Given the description of an element on the screen output the (x, y) to click on. 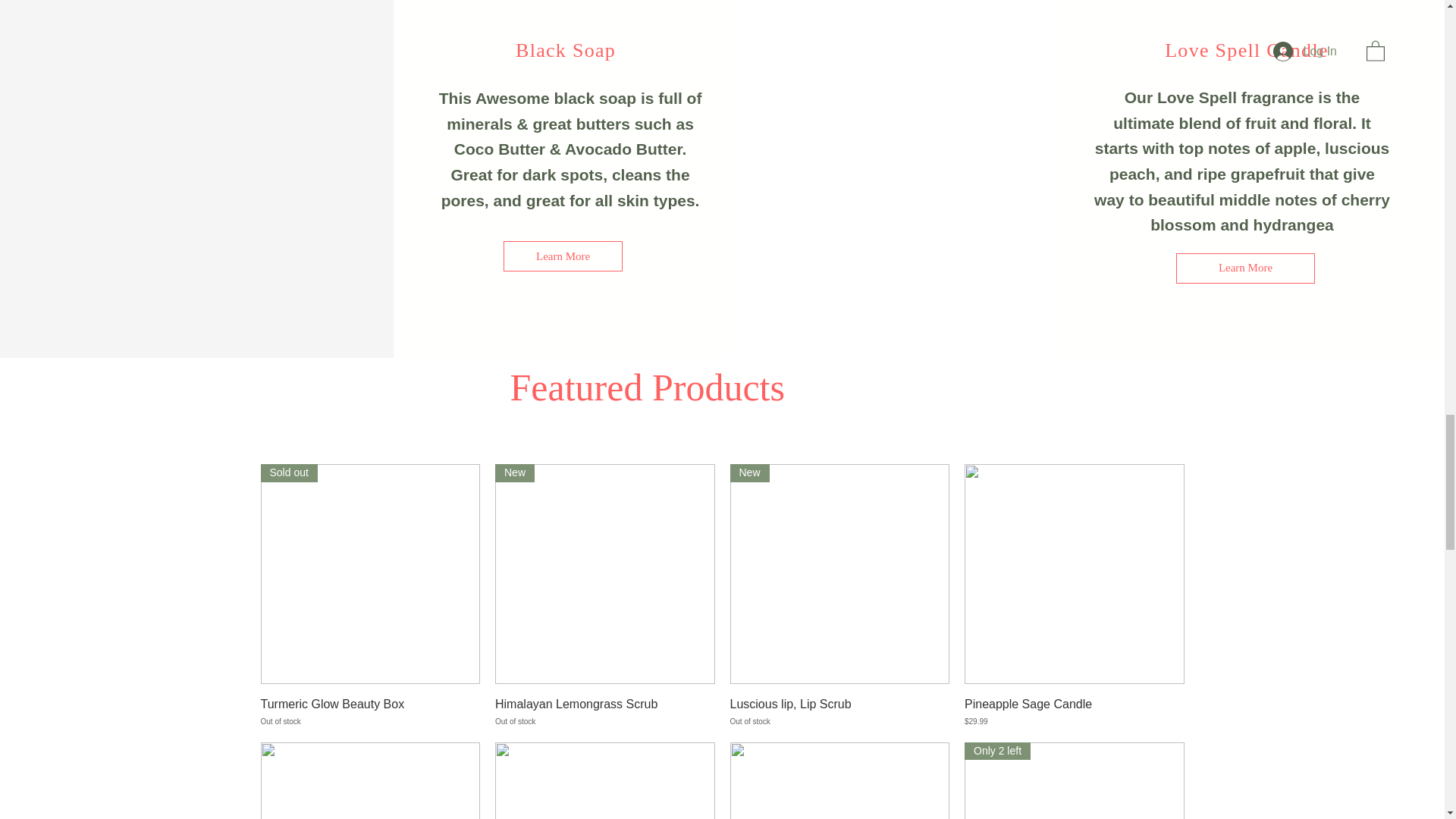
New (839, 711)
Sold out (604, 711)
Only 2 left (604, 573)
Learn More (370, 573)
Learn More (370, 711)
New (1074, 780)
